Given the description of an element on the screen output the (x, y) to click on. 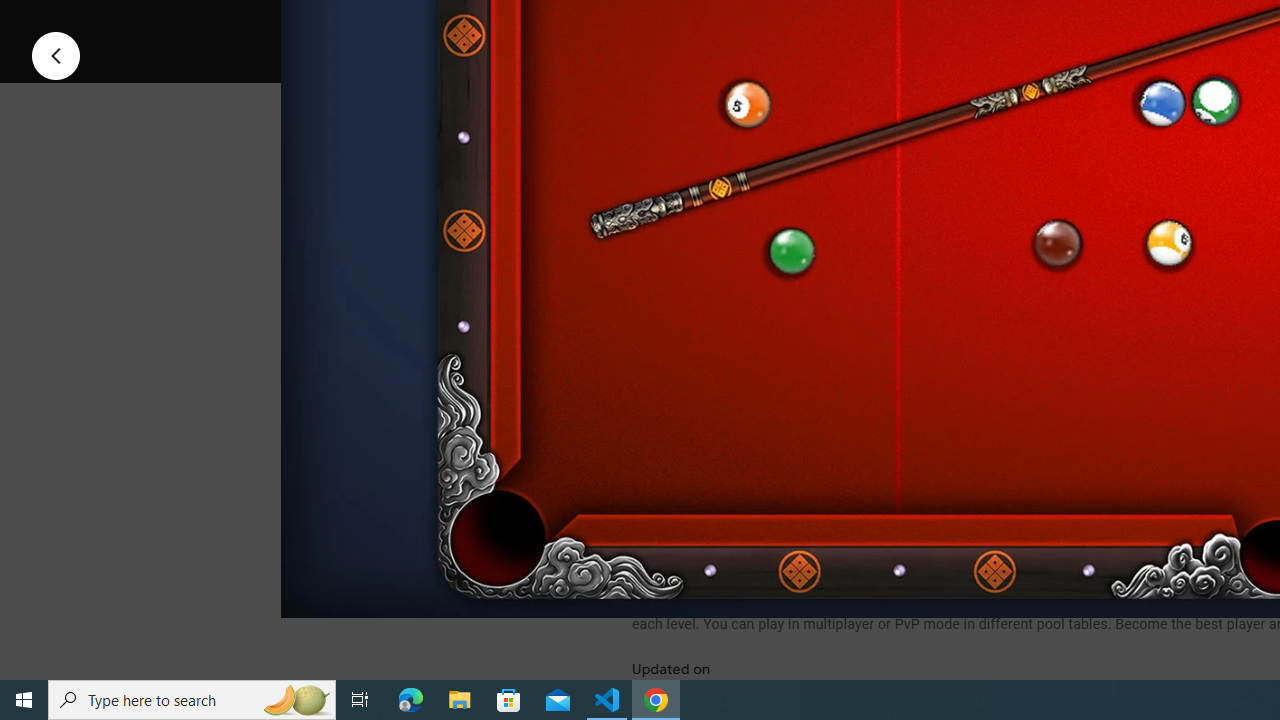
Install (732, 24)
Share (890, 24)
See more information on About this game (830, 477)
Add to wishlist (1014, 24)
Previous (55, 54)
Screenshot image (895, 271)
